Given the description of an element on the screen output the (x, y) to click on. 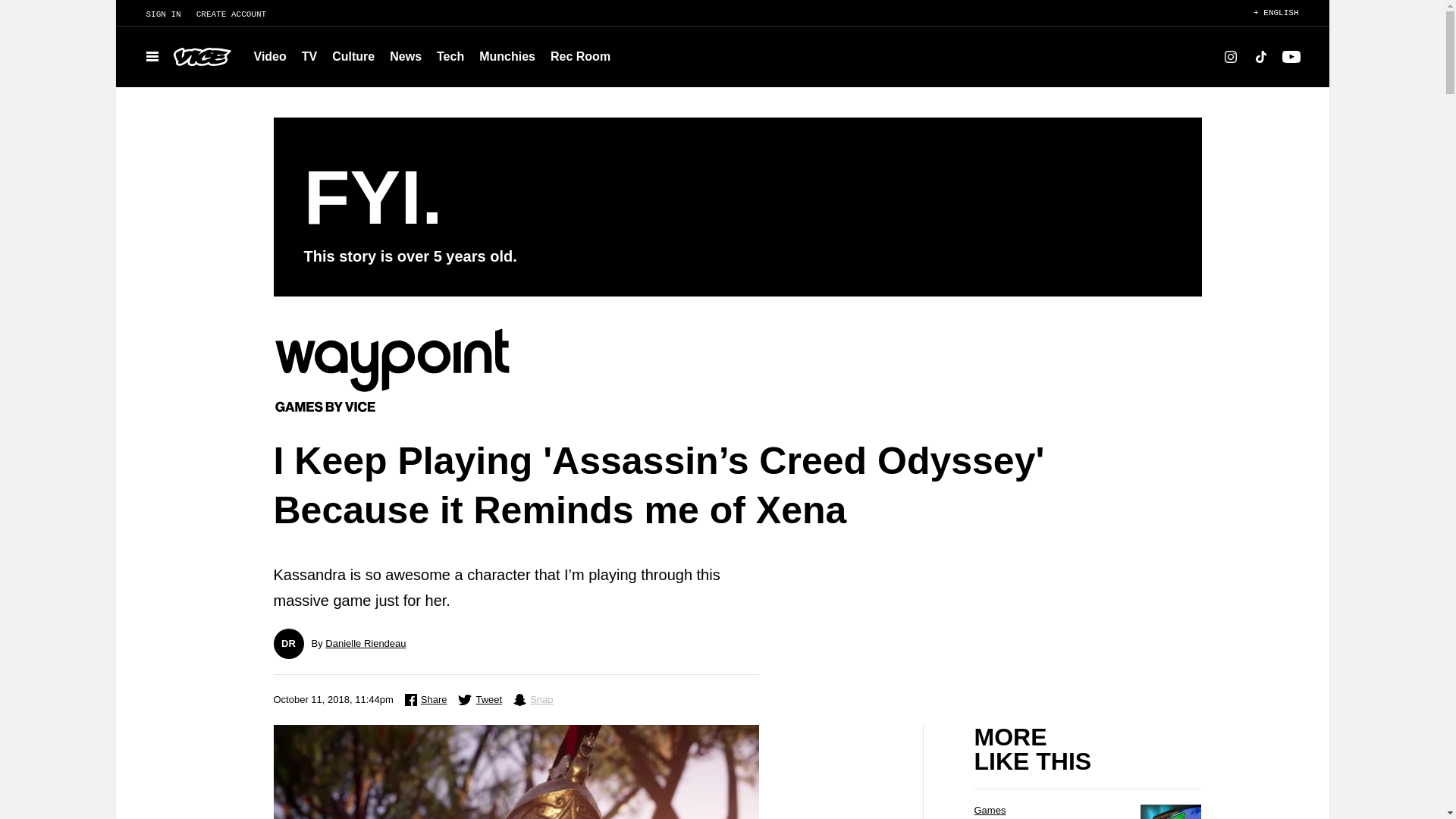
CREATE ACCOUNT (238, 13)
Video (270, 56)
News (405, 56)
Culture (352, 56)
Munchies (507, 56)
Share on Snapchat (533, 700)
TV (309, 56)
Rec Room (580, 56)
SIGN IN (155, 13)
Tech (450, 56)
